Given the description of an element on the screen output the (x, y) to click on. 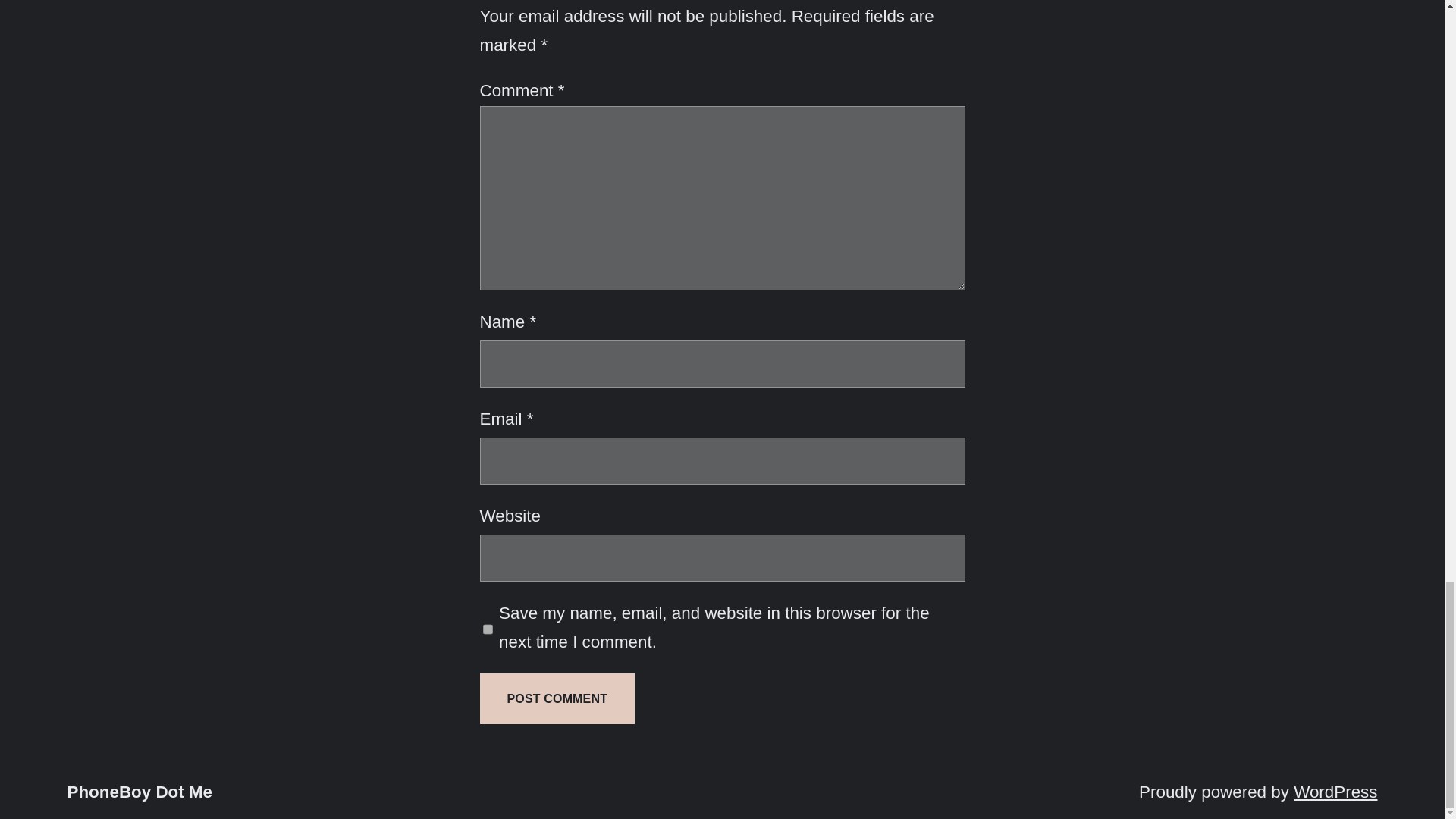
Post Comment (556, 698)
PhoneBoy Dot Me (139, 791)
Post Comment (556, 698)
WordPress (1335, 791)
